Given the description of an element on the screen output the (x, y) to click on. 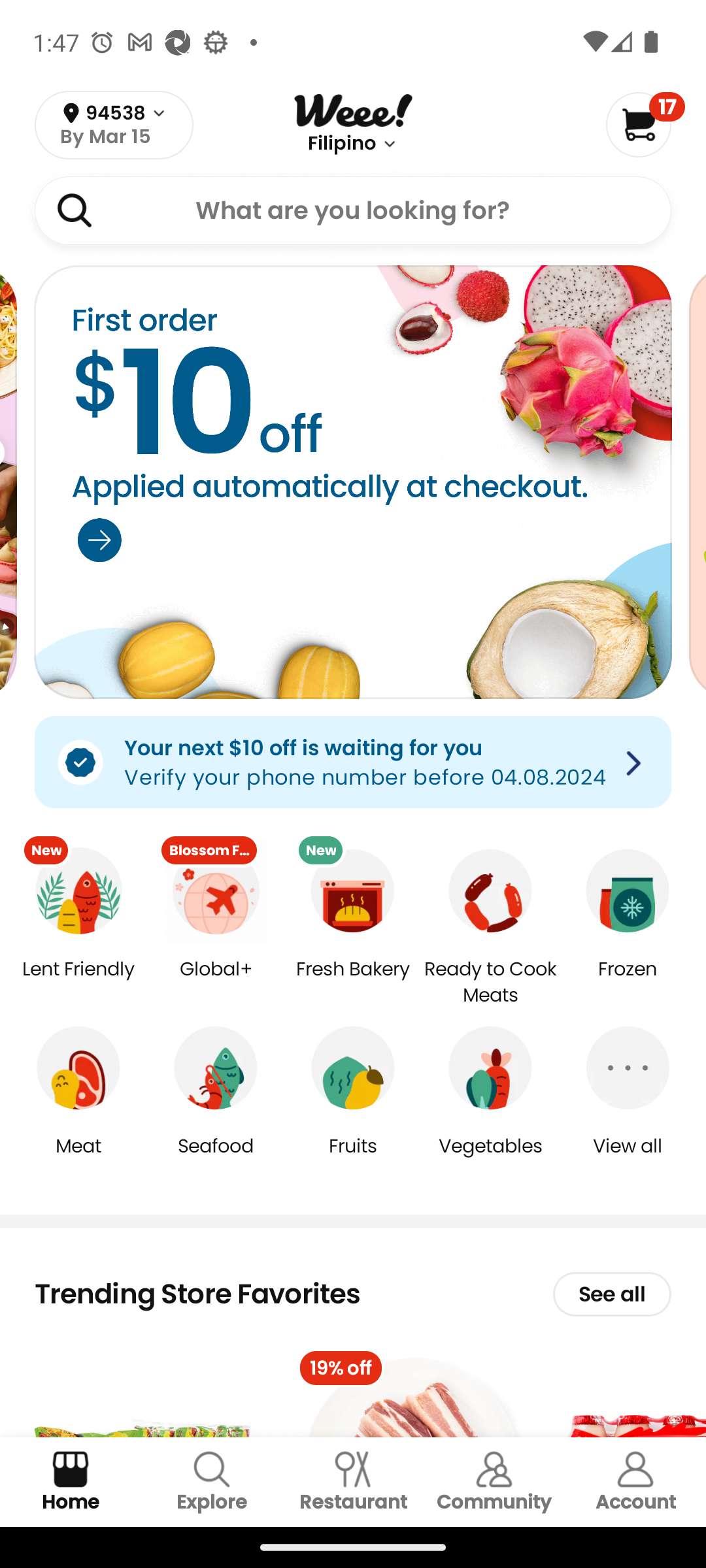
94538 By Mar 15 (113, 124)
17 (644, 124)
Filipino (341, 143)
What are you looking for? (352, 209)
Lent Friendly (77, 982)
Global+ (215, 982)
Fresh Bakery (352, 982)
Ready to Cook Meats (490, 982)
Frozen (627, 982)
Meat (77, 1159)
Seafood (215, 1159)
Fruits (352, 1159)
Vegetables (490, 1159)
View all (627, 1159)
Home (70, 1482)
Explore (211, 1482)
Restaurant (352, 1482)
Community (493, 1482)
Account (635, 1482)
